Given the description of an element on the screen output the (x, y) to click on. 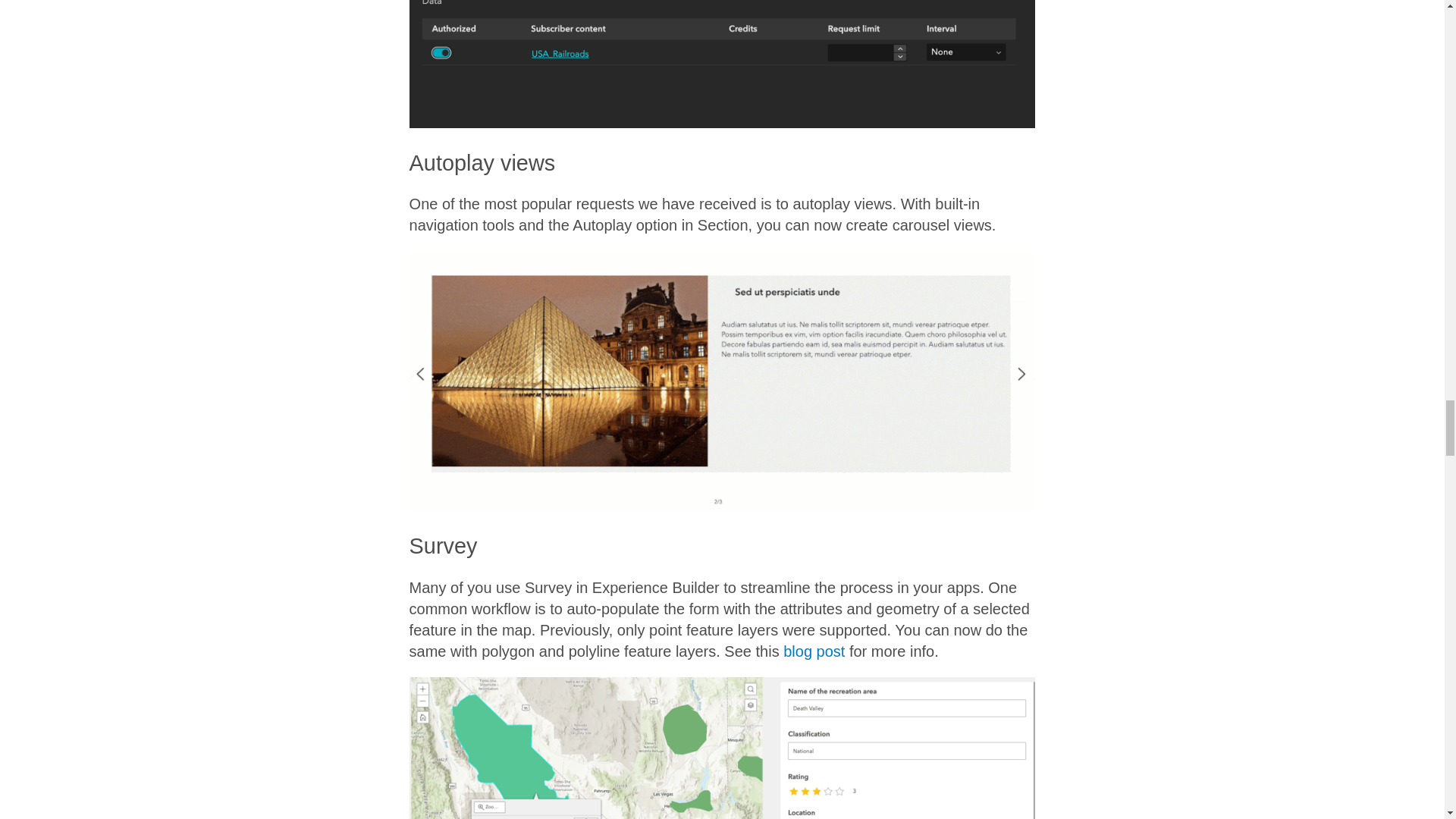
Subscriber content window (722, 63)
Survey with polygon layer (722, 748)
blog post (813, 651)
